Given the description of an element on the screen output the (x, y) to click on. 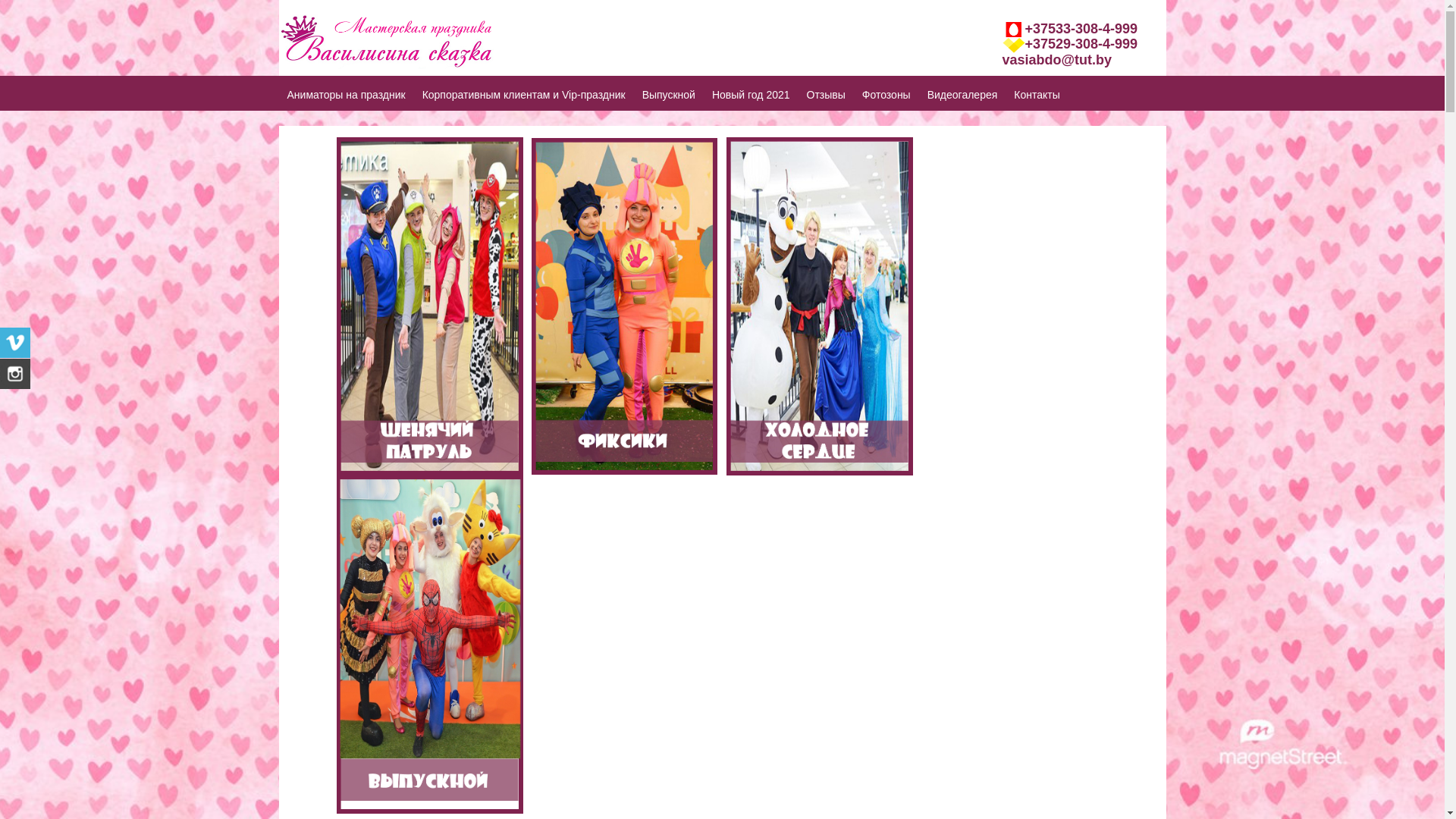
vimeo Element type: hover (15, 342)
instagram Element type: hover (15, 373)
